Given the description of an element on the screen output the (x, y) to click on. 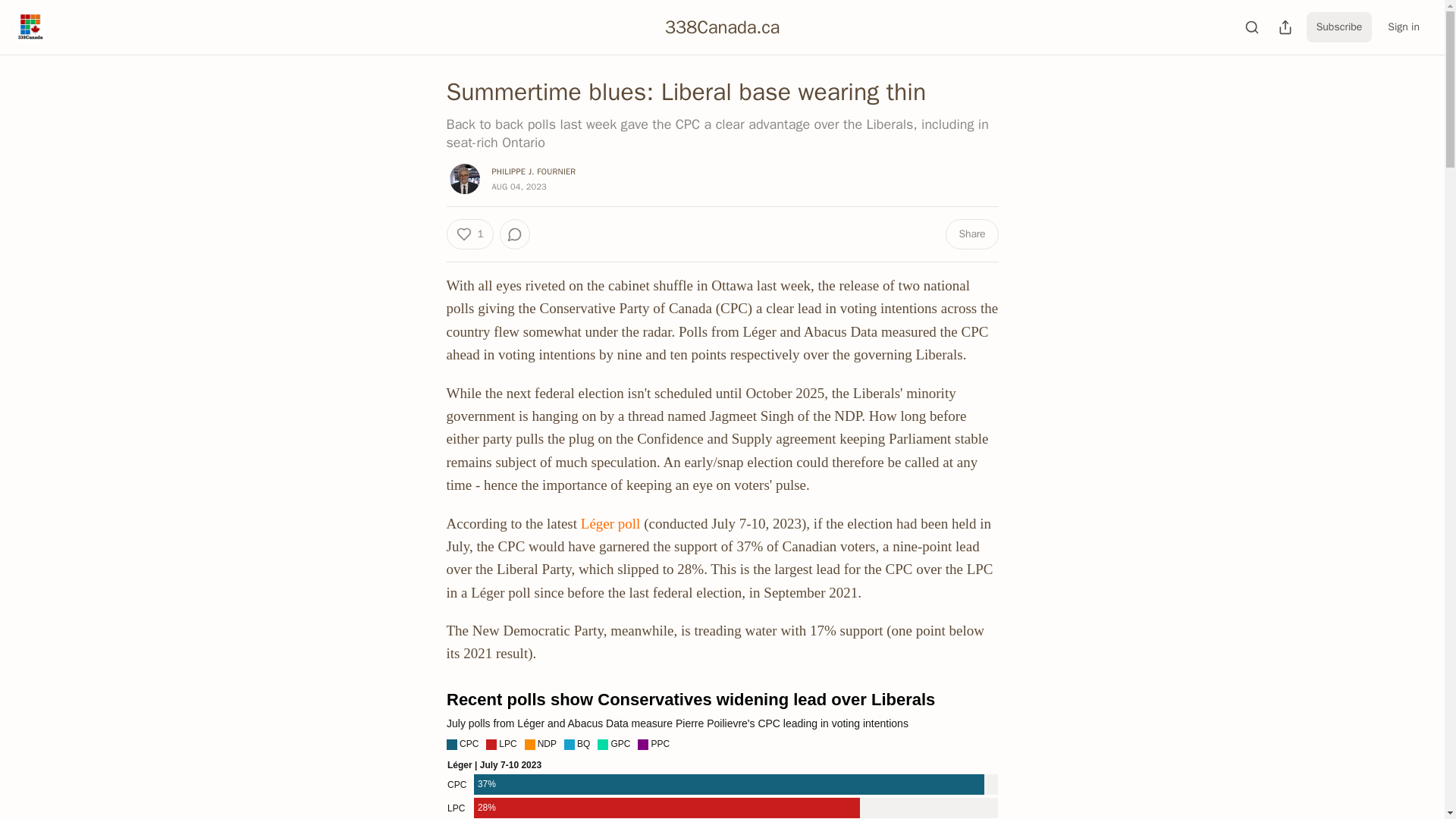
Subscribe (1339, 27)
338Canada.ca (722, 26)
PHILIPPE J. FOURNIER (533, 171)
1 (469, 234)
Sign in (1403, 27)
Share (970, 234)
